Given the description of an element on the screen output the (x, y) to click on. 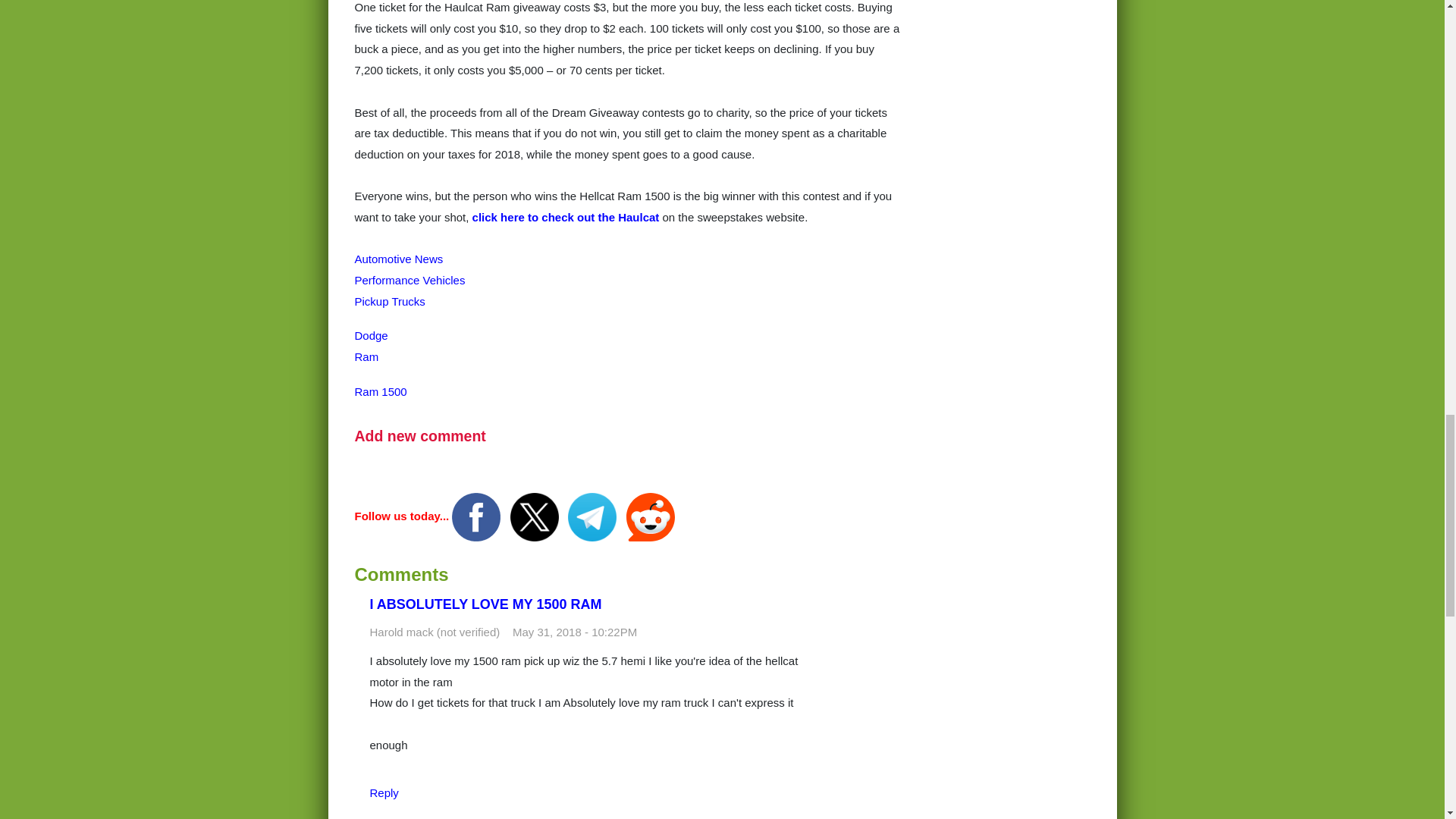
Dodge (371, 335)
Performance Vehicles (410, 279)
Add new comment (420, 435)
I ABSOLUTELY LOVE MY 1500 RAM (485, 604)
Pickup Trucks (390, 300)
Ram (366, 356)
Join us on Telegram! (593, 515)
click here to check out the Haulcat (566, 216)
Automotive News (399, 258)
Share your thoughts and opinions. (420, 435)
Join us on Reddit! (650, 515)
Reply (383, 792)
Ram 1500 (381, 391)
